Given the description of an element on the screen output the (x, y) to click on. 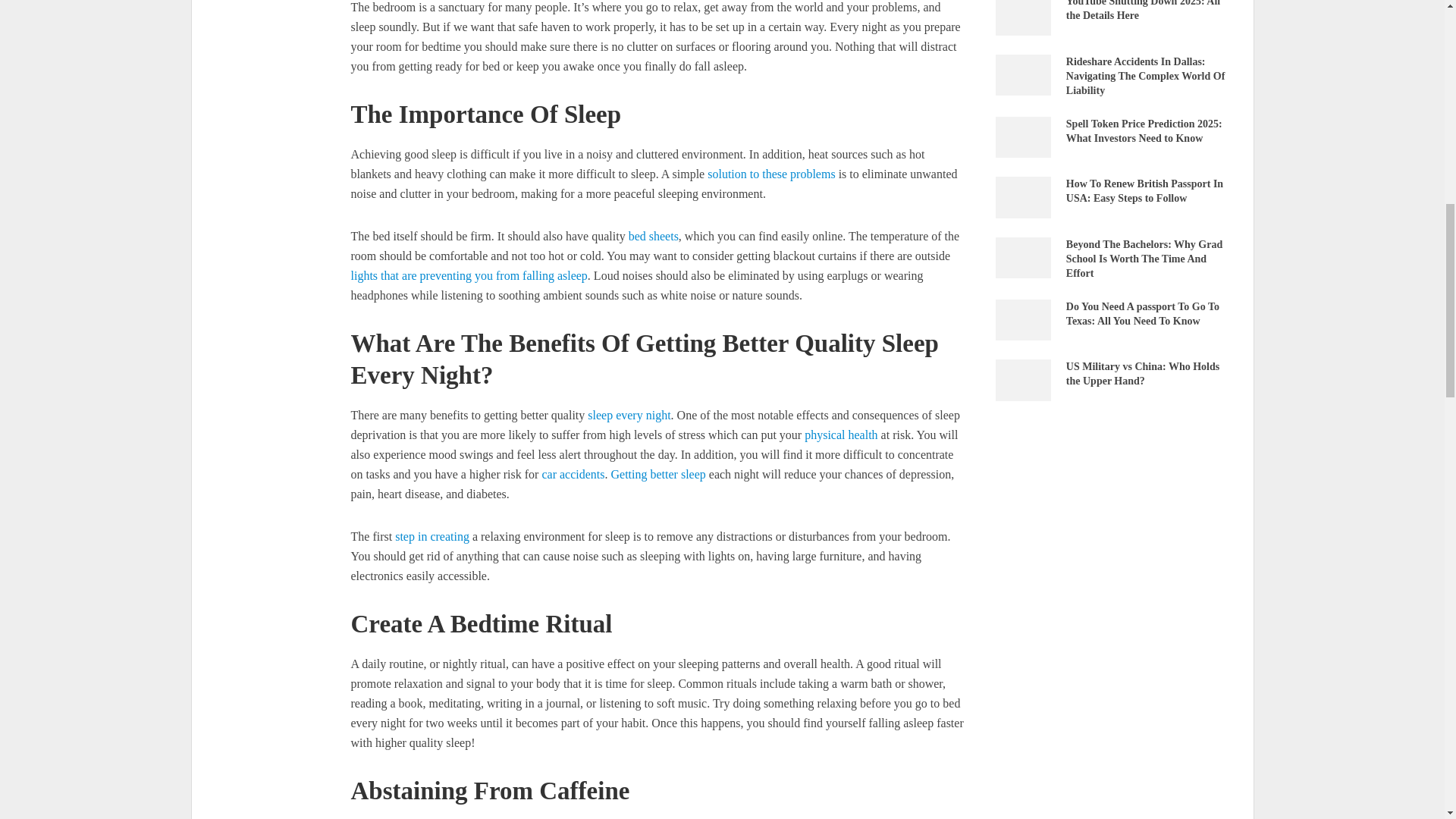
YouTube Shutting Down 2025: All the Details Here (1021, 13)
